Given the description of an element on the screen output the (x, y) to click on. 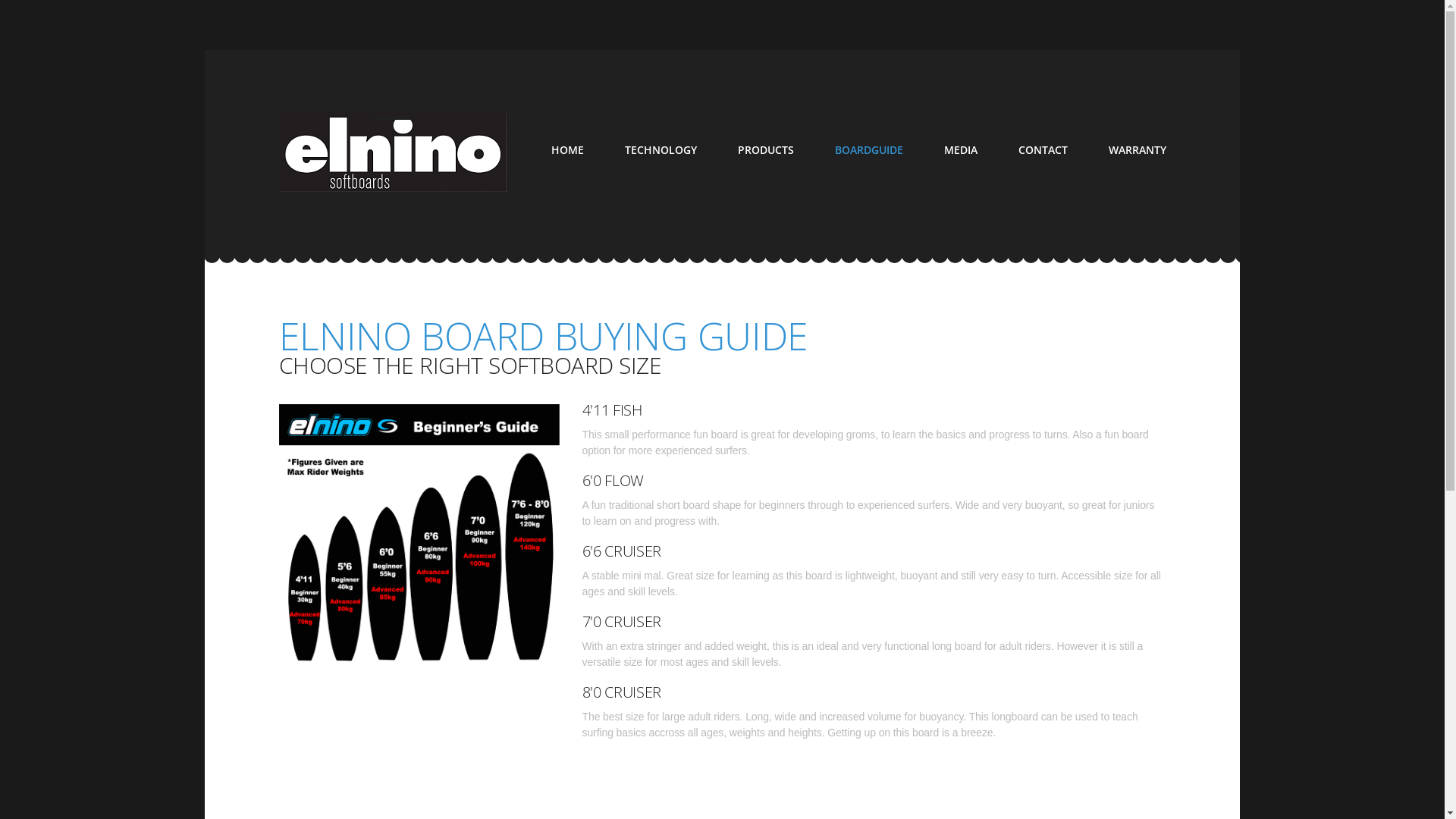
7'0 CRUISER Element type: text (622, 621)
PRODUCTS Element type: text (765, 149)
CONTACT Element type: text (1041, 149)
6'0 FLOW Element type: text (613, 480)
6'6 CRUISER Element type: text (622, 550)
HOME Element type: text (566, 149)
BOARDGUIDE Element type: text (868, 149)
8'0 CRUISER Element type: text (622, 691)
MEDIA Element type: text (959, 149)
TECHNOLOGY Element type: text (660, 149)
4'11 FISH Element type: text (612, 409)
WARRANTY Element type: text (1137, 149)
